Given the description of an element on the screen output the (x, y) to click on. 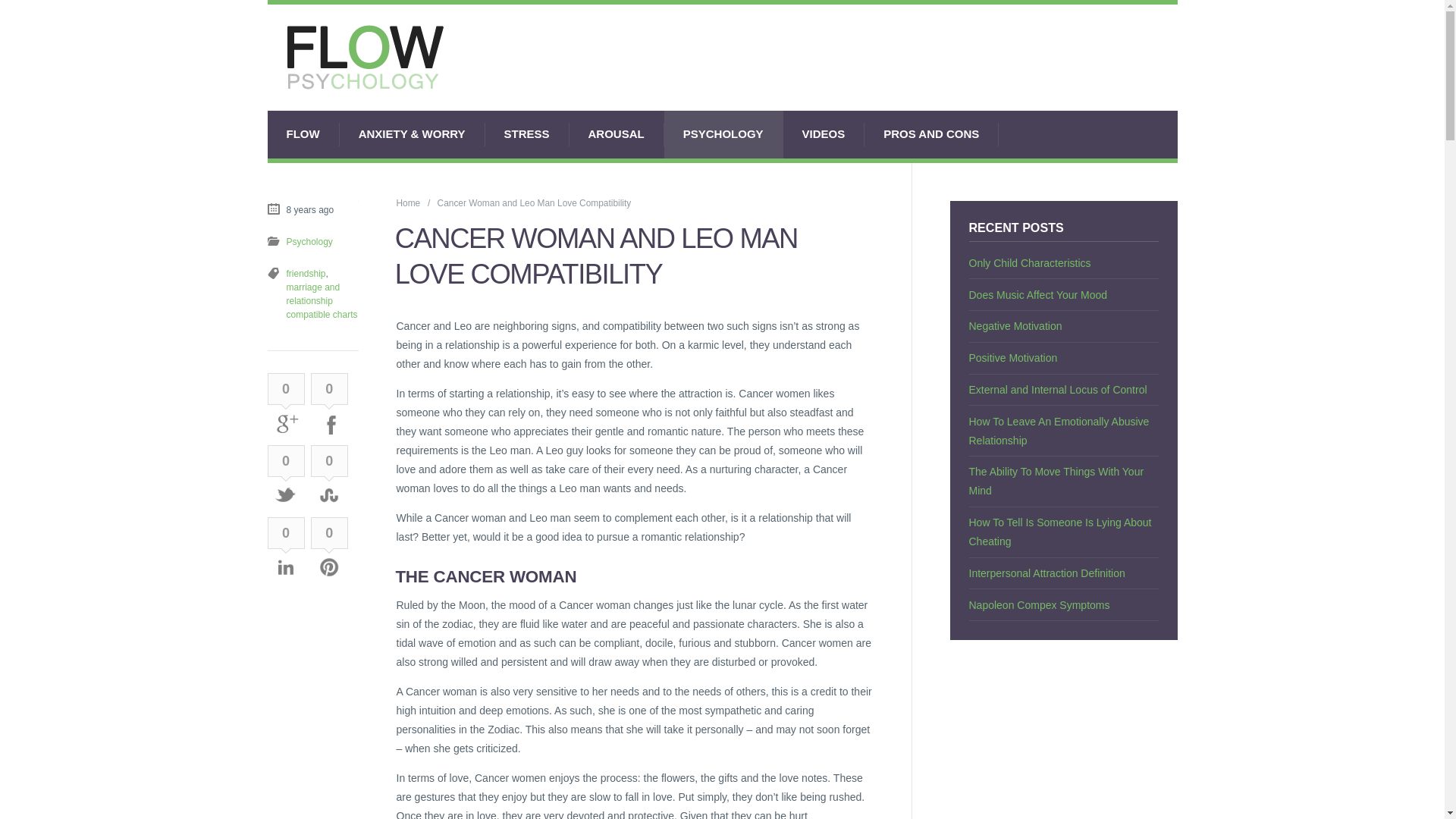
How To Tell Is Someone Is Lying About Cheating (1060, 531)
FLOW (302, 134)
marriage and relationship compatible charts (322, 300)
Interpersonal Attraction Definition (1047, 573)
PROS AND CONS (931, 134)
VIDEOS (823, 134)
Only Child Characteristics (1029, 263)
Home (408, 203)
STRESS (526, 134)
External and Internal Locus of Control (1058, 389)
AROUSAL (616, 134)
View all posts in Psychology (309, 241)
Negative Motivation (1015, 326)
Positive Motivation (1013, 357)
friendship (306, 273)
